Given the description of an element on the screen output the (x, y) to click on. 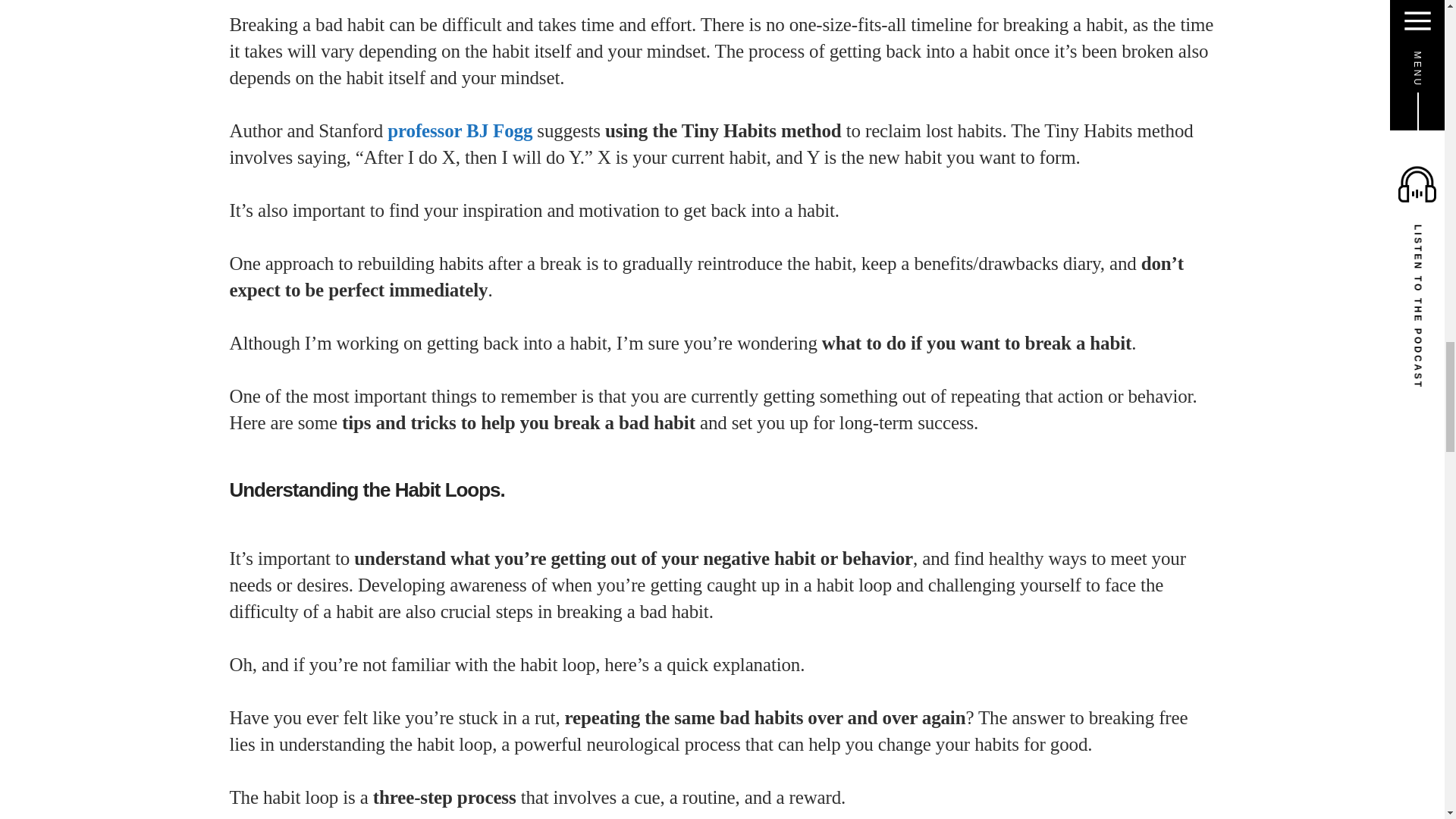
professor BJ Fogg (459, 130)
